Given the description of an element on the screen output the (x, y) to click on. 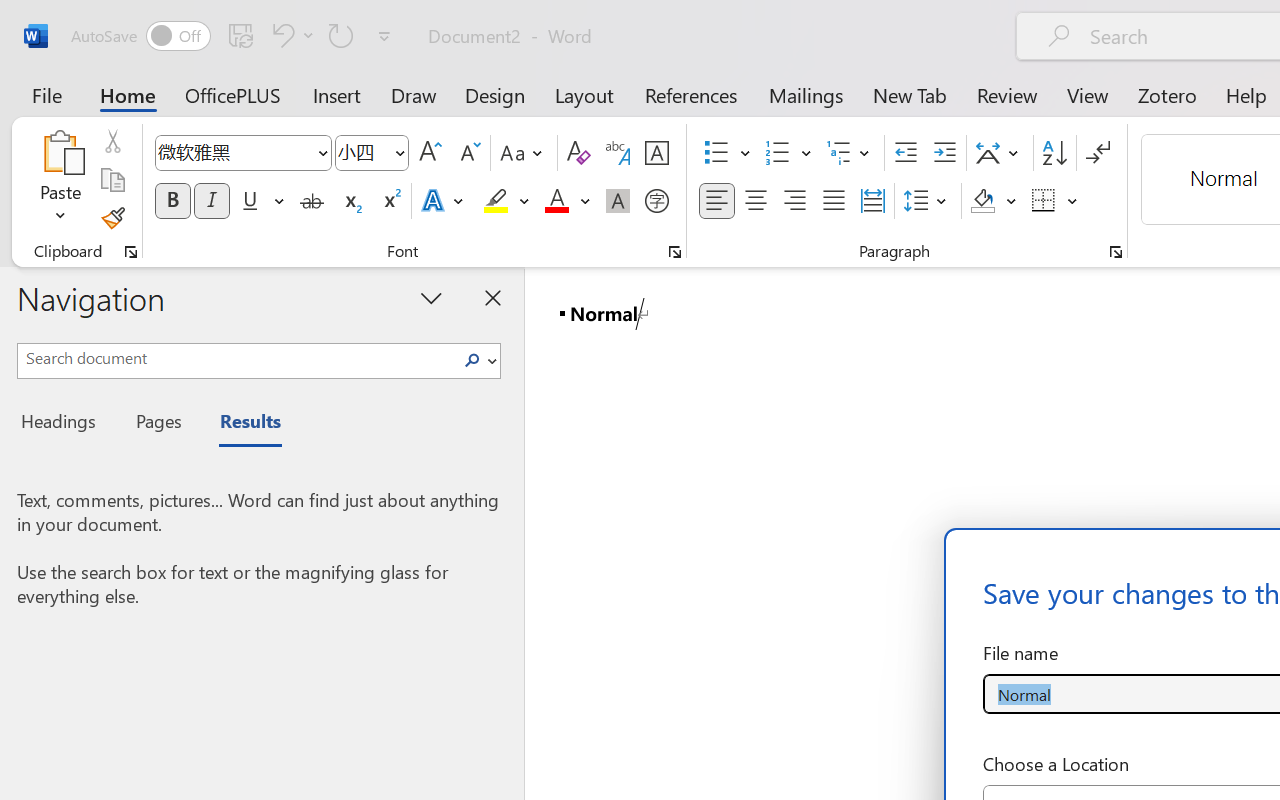
Show/Hide Editing Marks (1098, 153)
Change Case (524, 153)
AutoSave (140, 35)
Undo Style (280, 35)
Draw (413, 94)
Search (478, 360)
View (1087, 94)
Font Size (372, 153)
Review (1007, 94)
Can't Repeat (341, 35)
Layout (584, 94)
Underline (250, 201)
Character Border (656, 153)
Character Shading (618, 201)
Text Effects and Typography (444, 201)
